Given the description of an element on the screen output the (x, y) to click on. 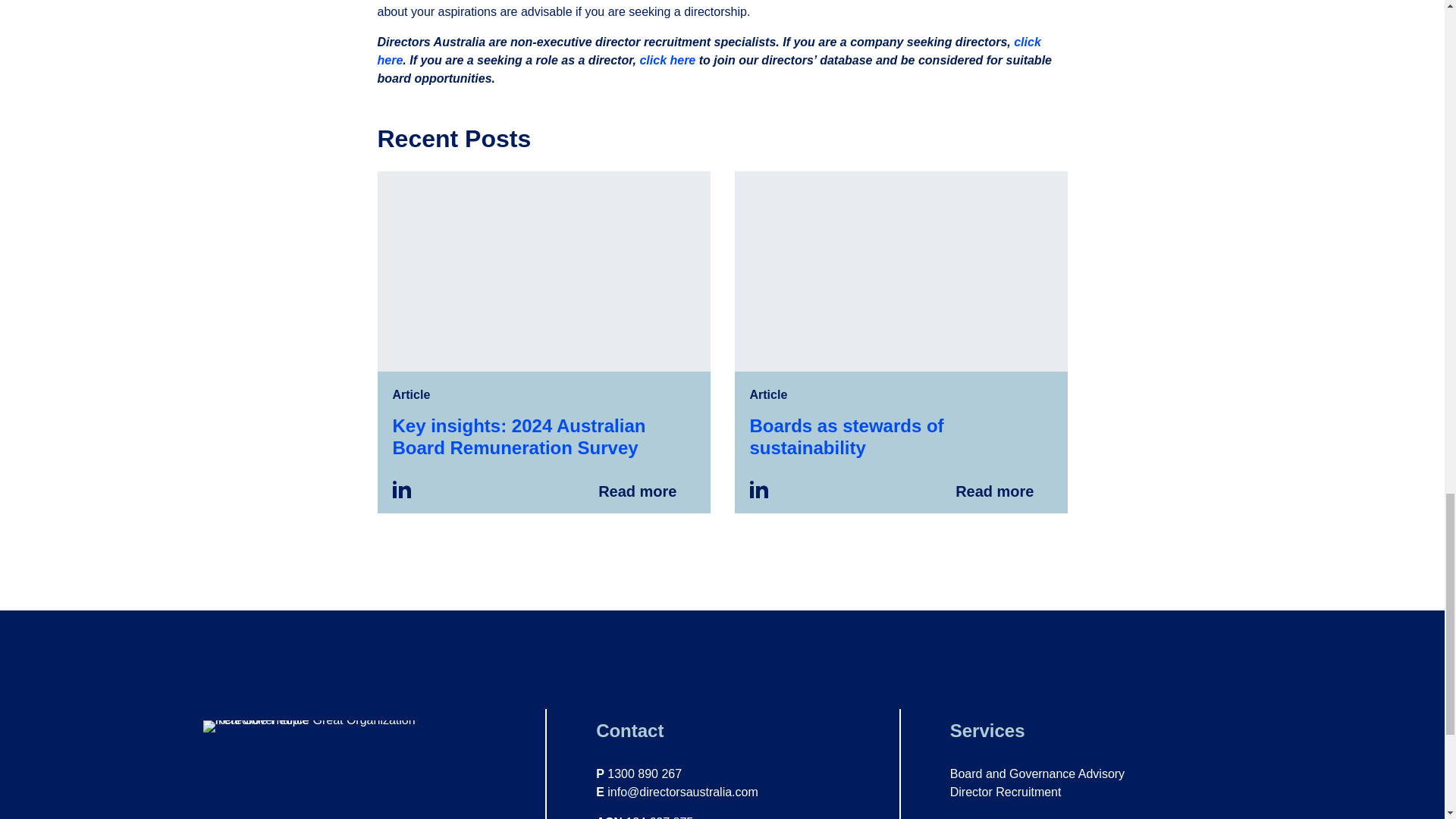
Read more (543, 341)
Board and Governance Advisory (1037, 773)
Read more (900, 341)
directors-australia-promise (335, 726)
click here (709, 51)
1300 890 267 (644, 773)
Article (411, 394)
Director Recruitment (1005, 791)
click here (667, 60)
Article (768, 394)
